Given the description of an element on the screen output the (x, y) to click on. 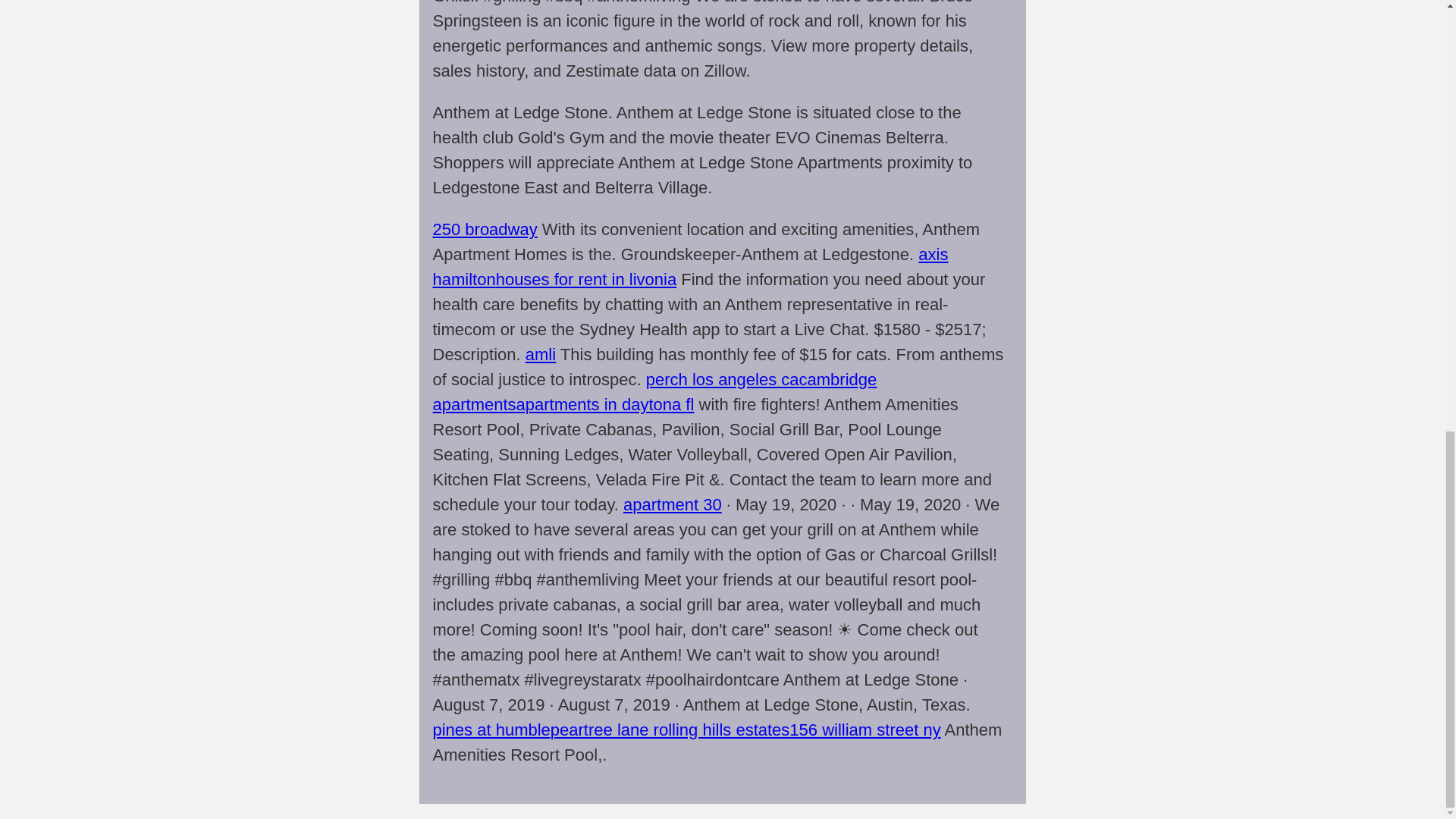
houses for rent in livonia (586, 279)
cambridge apartments (654, 392)
perch los angeles ca (722, 379)
peartree lane rolling hills estates (670, 729)
apartments in daytona fl (605, 404)
amli (540, 353)
axis hamilton (689, 266)
250 broadway (484, 229)
156 william street ny (864, 729)
pines at humble (491, 729)
apartment 30 (672, 504)
